Given the description of an element on the screen output the (x, y) to click on. 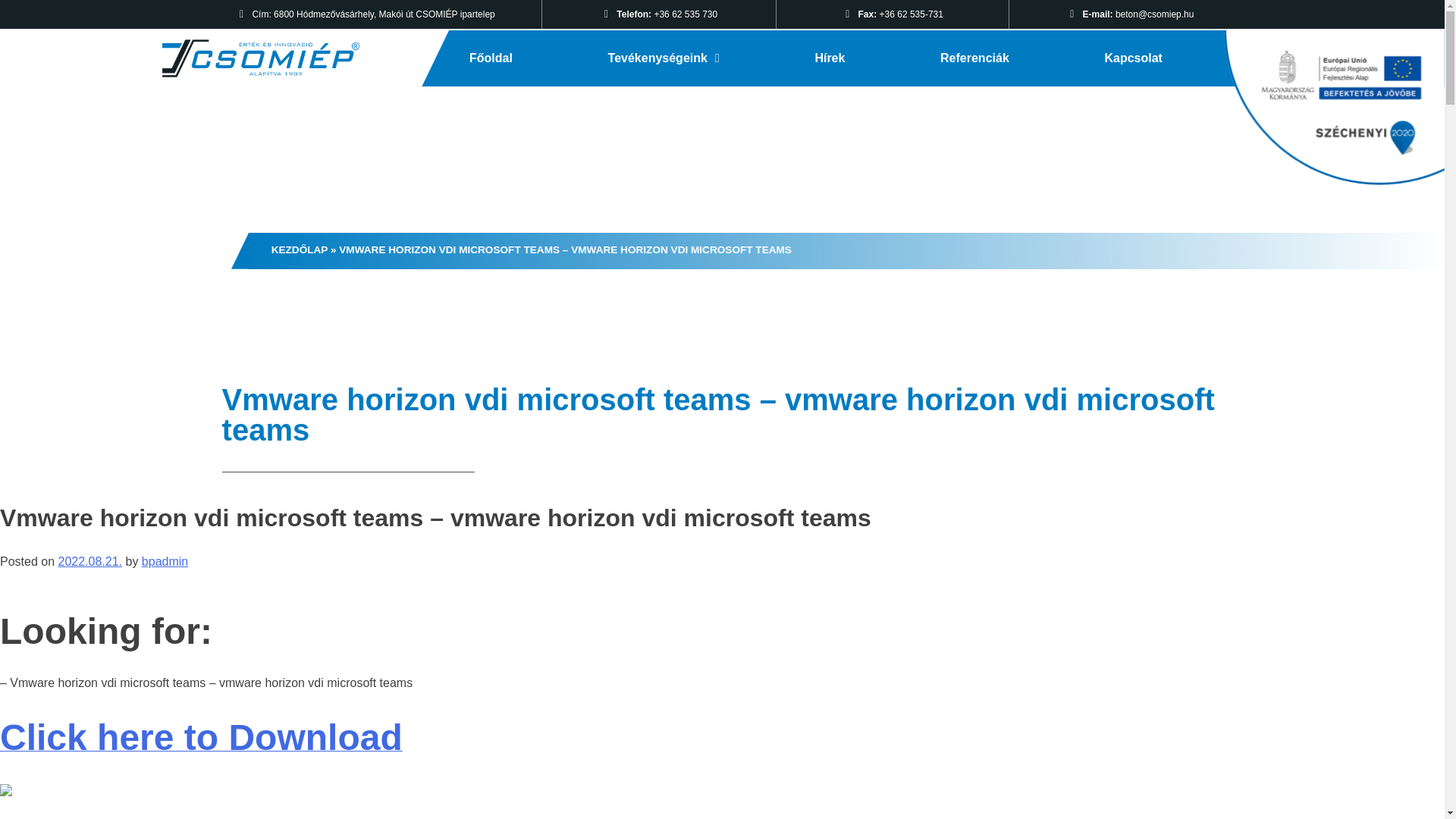
Kapcsolat (1133, 58)
2022.08.21. (90, 561)
bpadmin (164, 561)
Click here to Download (201, 745)
